Given the description of an element on the screen output the (x, y) to click on. 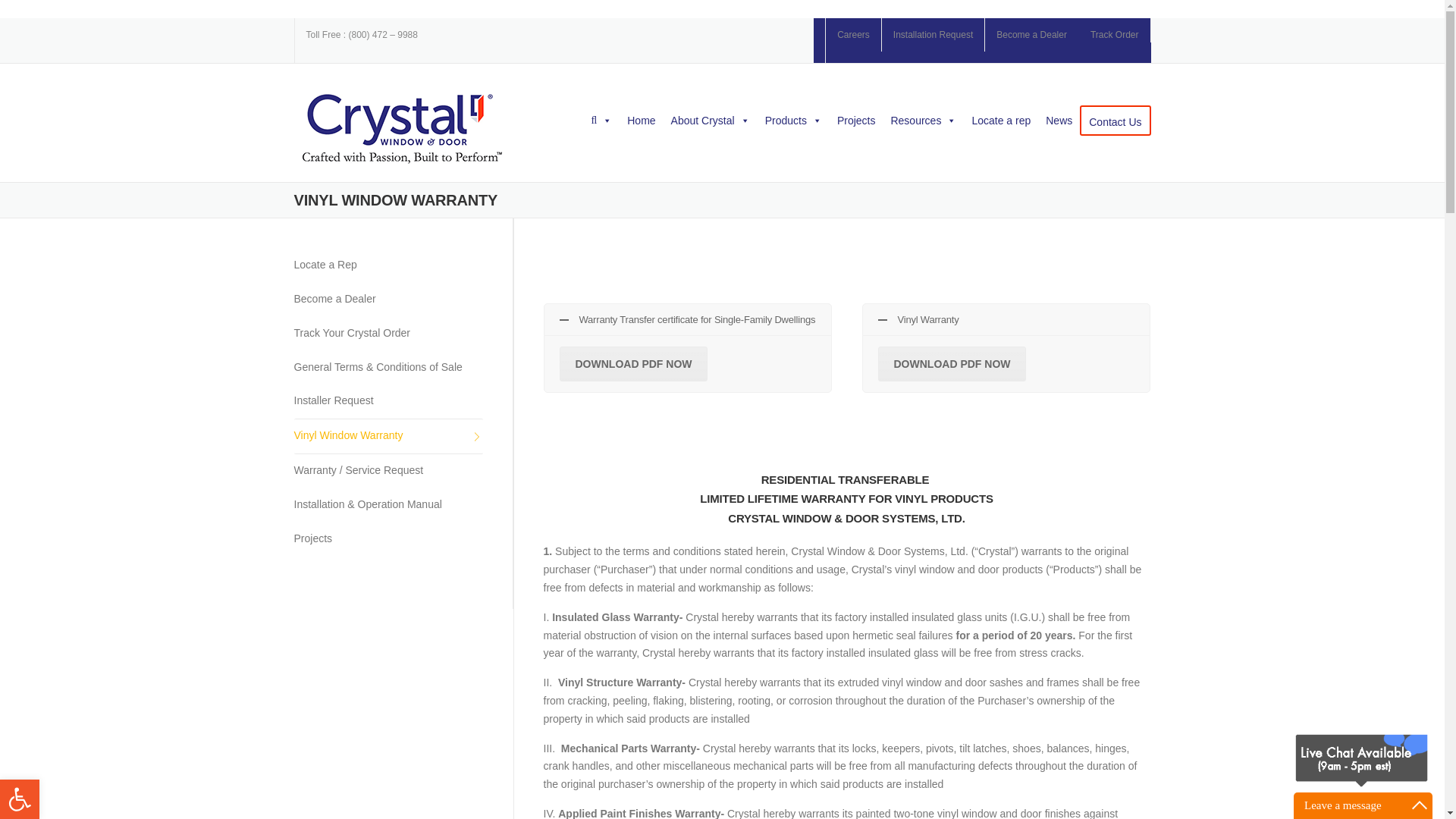
Accessibility Tools (19, 799)
Products (793, 120)
Accessibility Tools (19, 799)
Skip to content (34, 27)
Installation Request (932, 34)
About Crystal (710, 120)
Maximize (1419, 805)
Become a Dealer (1031, 34)
